Given the description of an element on the screen output the (x, y) to click on. 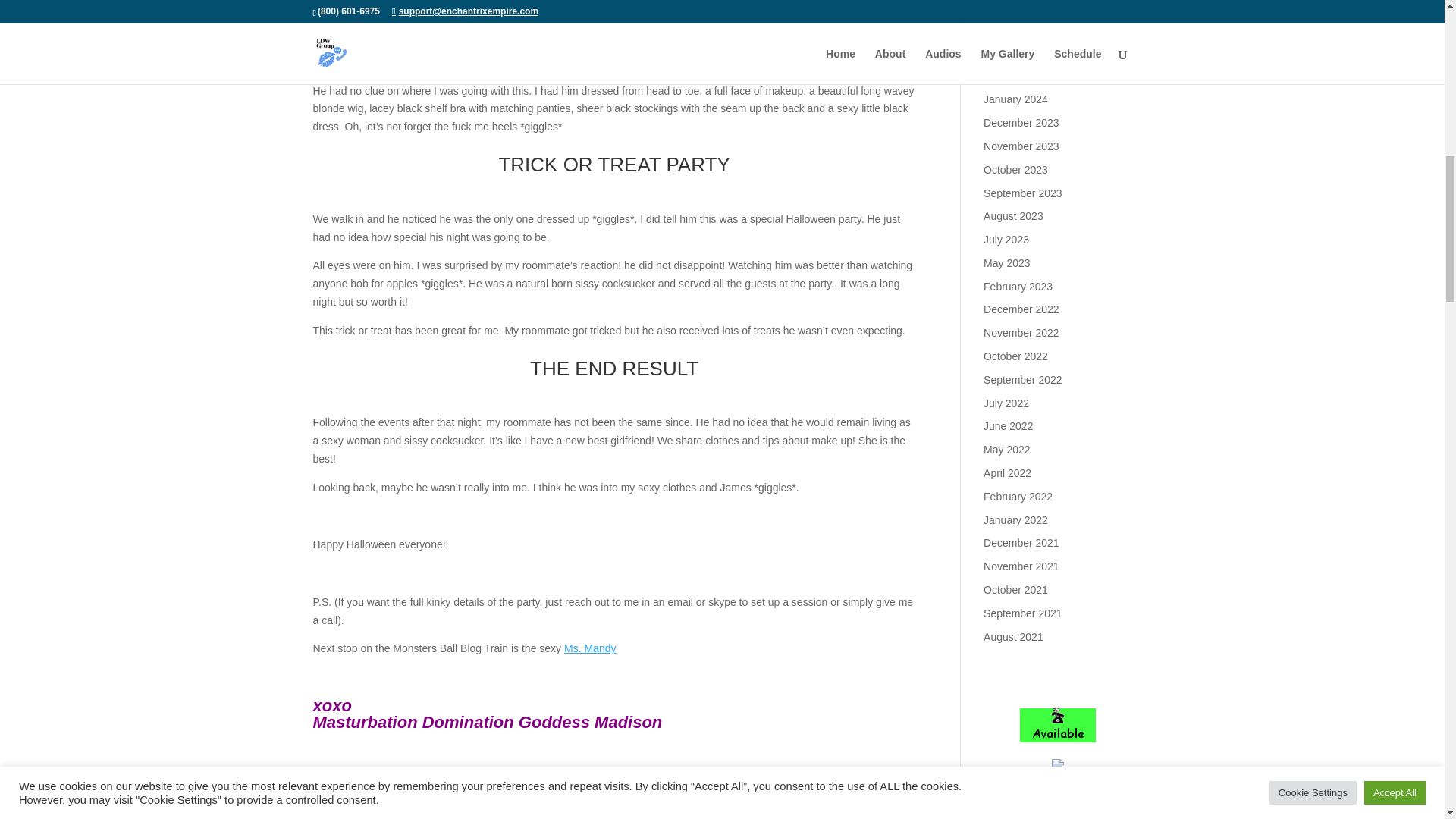
Ms. Mandy (589, 648)
